Given the description of an element on the screen output the (x, y) to click on. 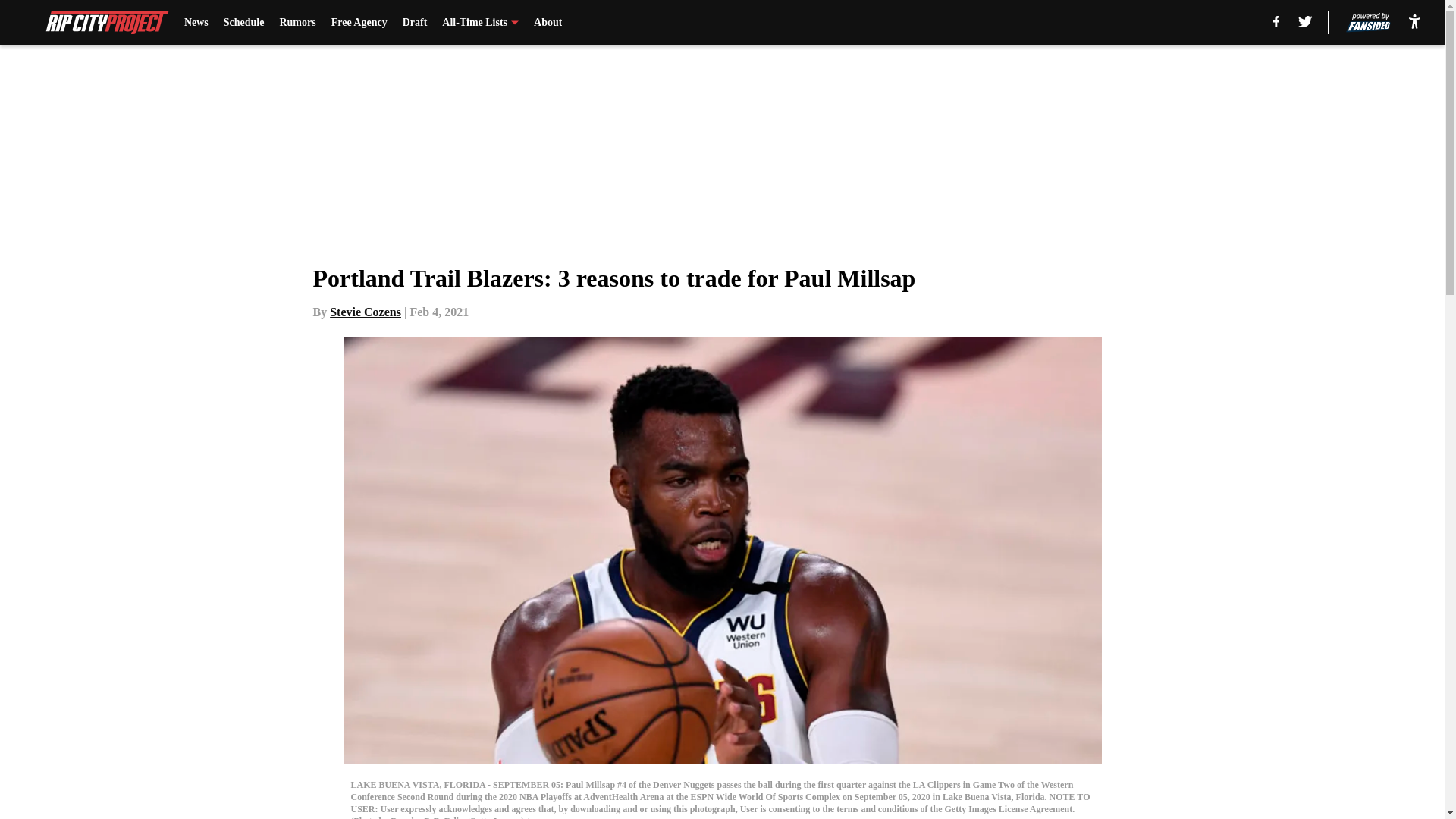
Draft (415, 22)
Schedule (244, 22)
Stevie Cozens (365, 311)
Free Agency (359, 22)
News (196, 22)
All-Time Lists (480, 22)
About (548, 22)
Rumors (297, 22)
